Given the description of an element on the screen output the (x, y) to click on. 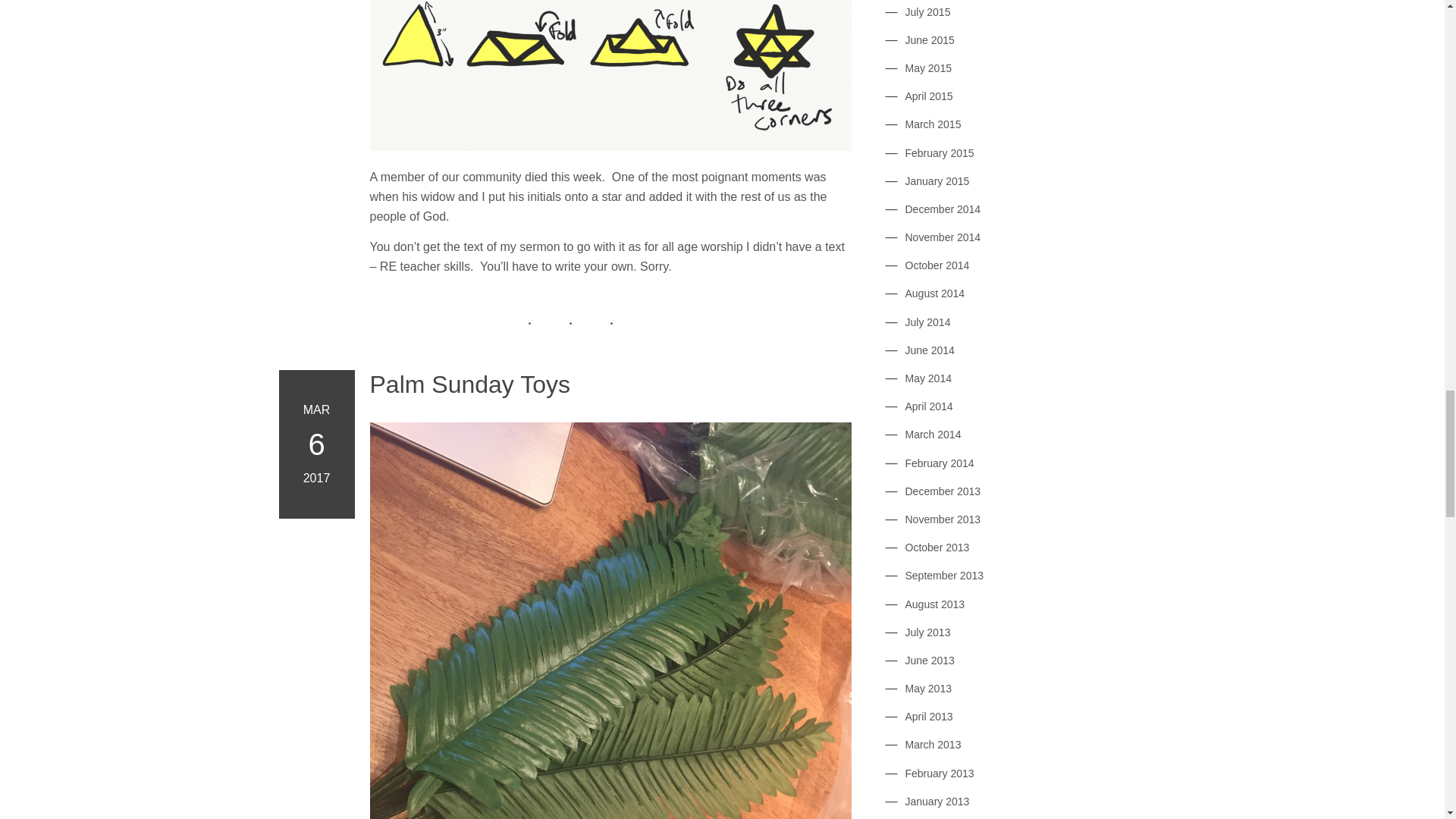
Palm Sunday Toys (610, 384)
